Given the description of an element on the screen output the (x, y) to click on. 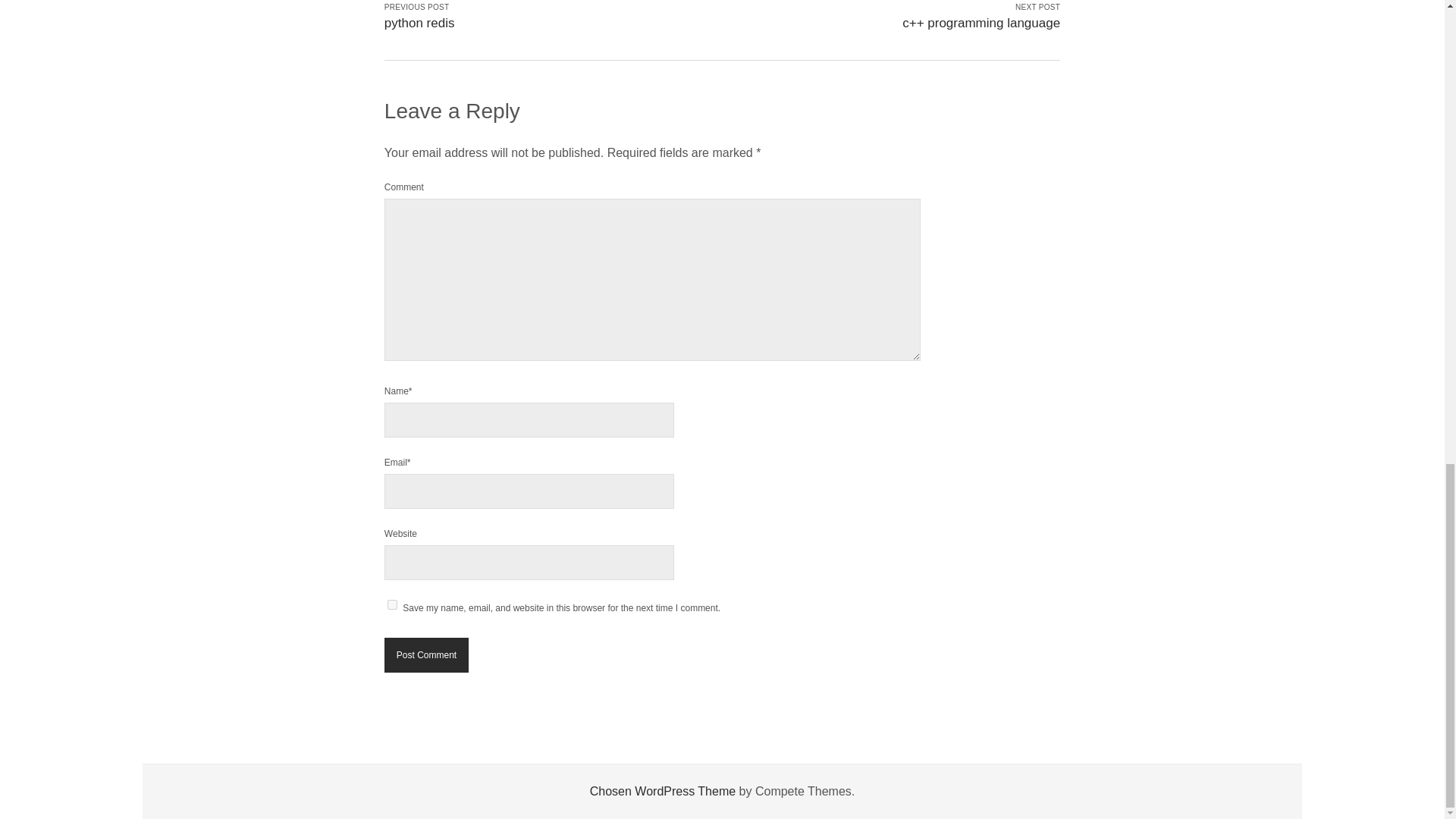
Post Comment (426, 655)
python redis (419, 22)
yes (392, 604)
Chosen WordPress Theme (662, 790)
Post Comment (426, 655)
